Given the description of an element on the screen output the (x, y) to click on. 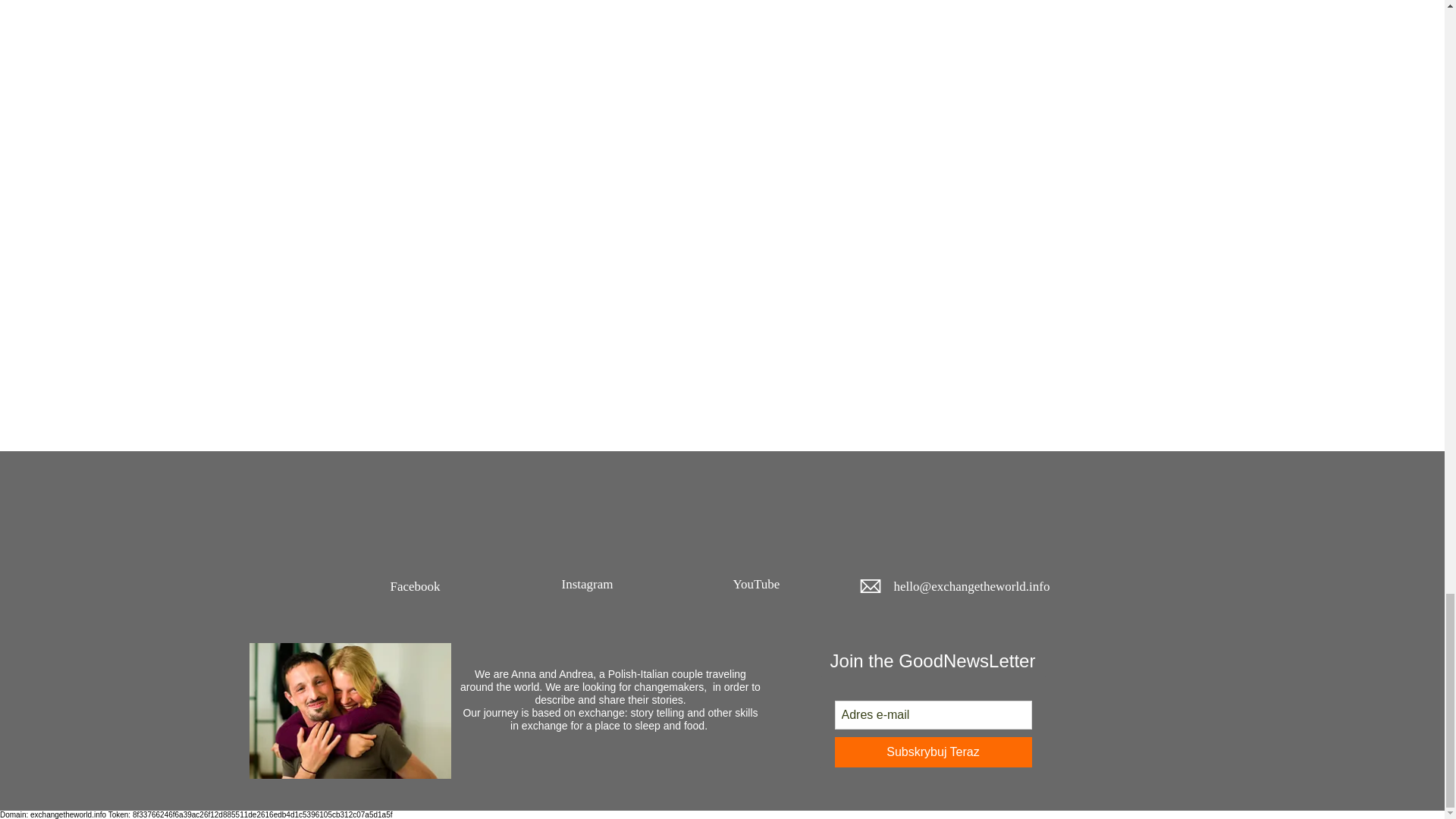
YouTube (755, 584)
Subskrybuj Teraz (932, 752)
Facebook (414, 586)
Instagram (586, 584)
